Given the description of an element on the screen output the (x, y) to click on. 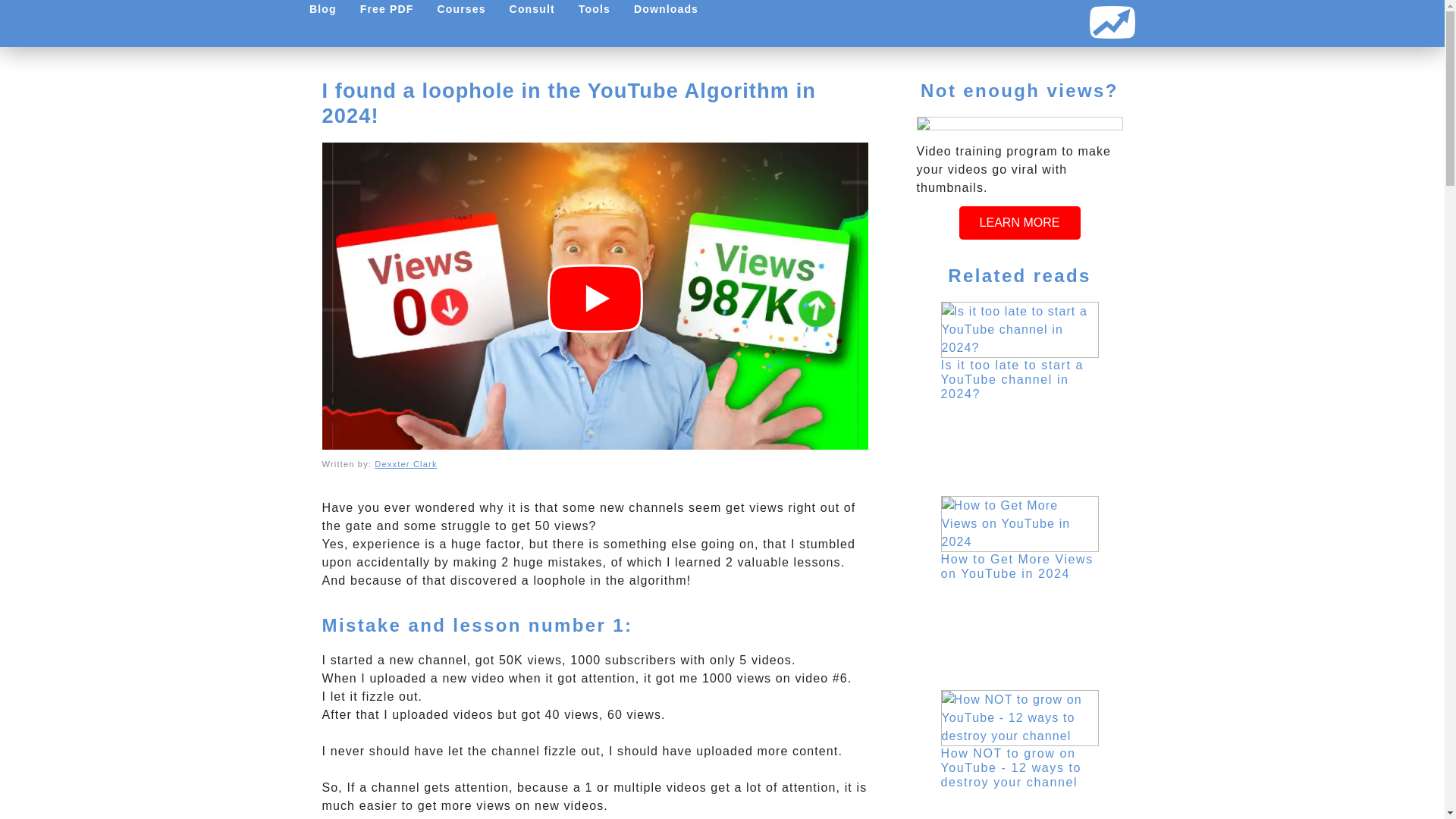
How NOT to grow on YouTube - 12 ways to destroy your channel (1010, 767)
Dexxter Clark (405, 463)
YouTube courses and coaching (461, 9)
Courses (461, 9)
Downloads (665, 9)
Blog (322, 9)
free pdf ebook: the secrets to making money on YouTube (386, 9)
How to Get More Views on YouTube in 2024 (1016, 565)
Tools (593, 9)
Free PDF (386, 9)
YouTube blog (322, 9)
YouTube advice and coaching (531, 9)
Consult (531, 9)
Is it too late to start a YouTube channel in 2024? (1011, 379)
LEARN MORE (1019, 222)
